Given the description of an element on the screen output the (x, y) to click on. 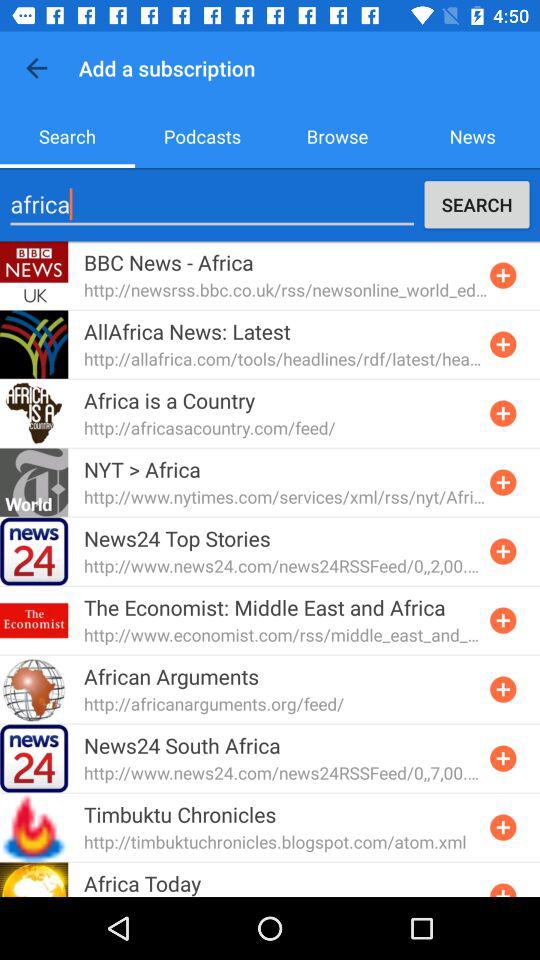
add subscription button (503, 689)
